Given the description of an element on the screen output the (x, y) to click on. 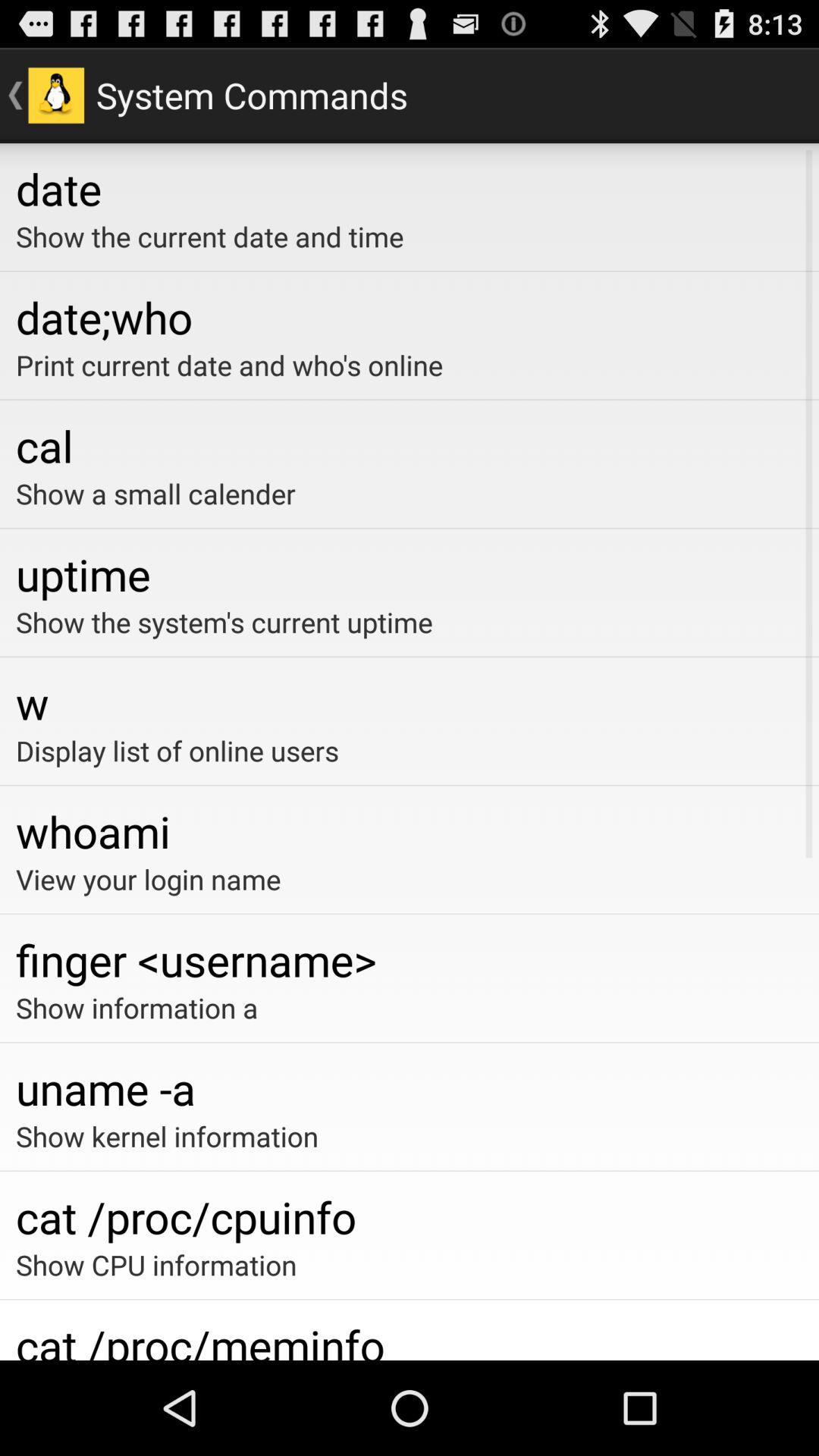
turn on w item (409, 702)
